Given the description of an element on the screen output the (x, y) to click on. 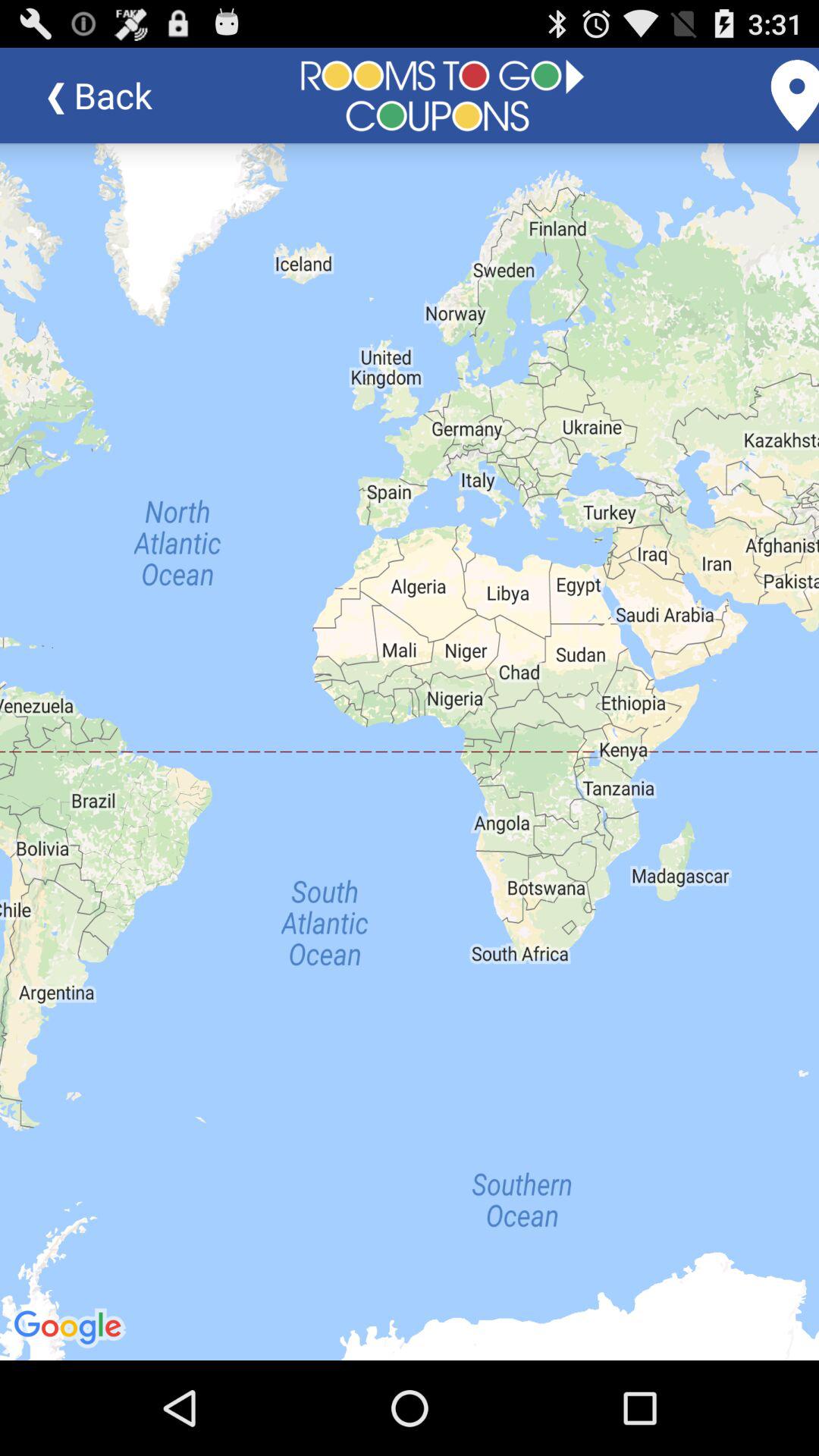
turn on icon at the center (409, 751)
